Given the description of an element on the screen output the (x, y) to click on. 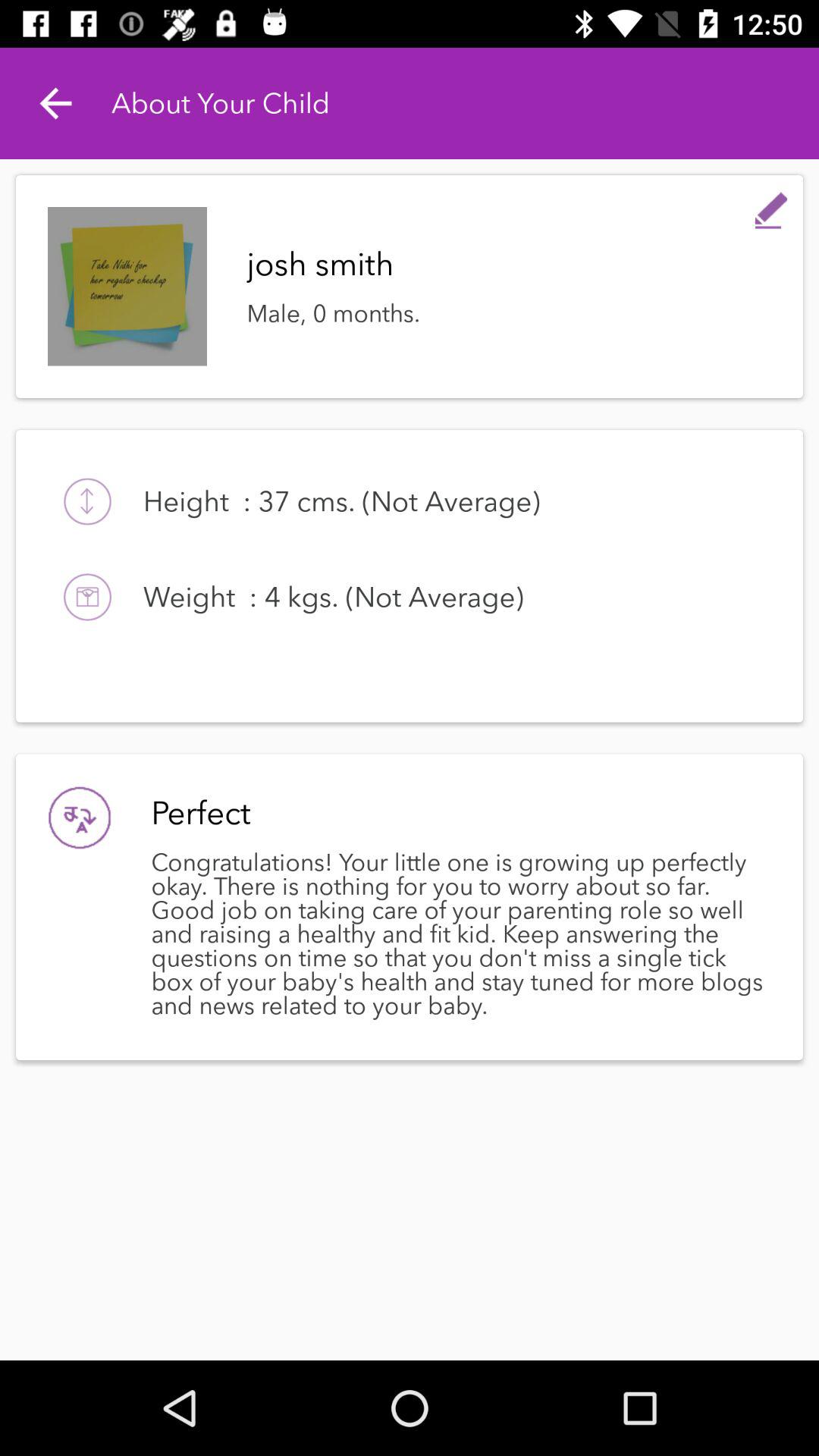
edit about your child (771, 206)
